Given the description of an element on the screen output the (x, y) to click on. 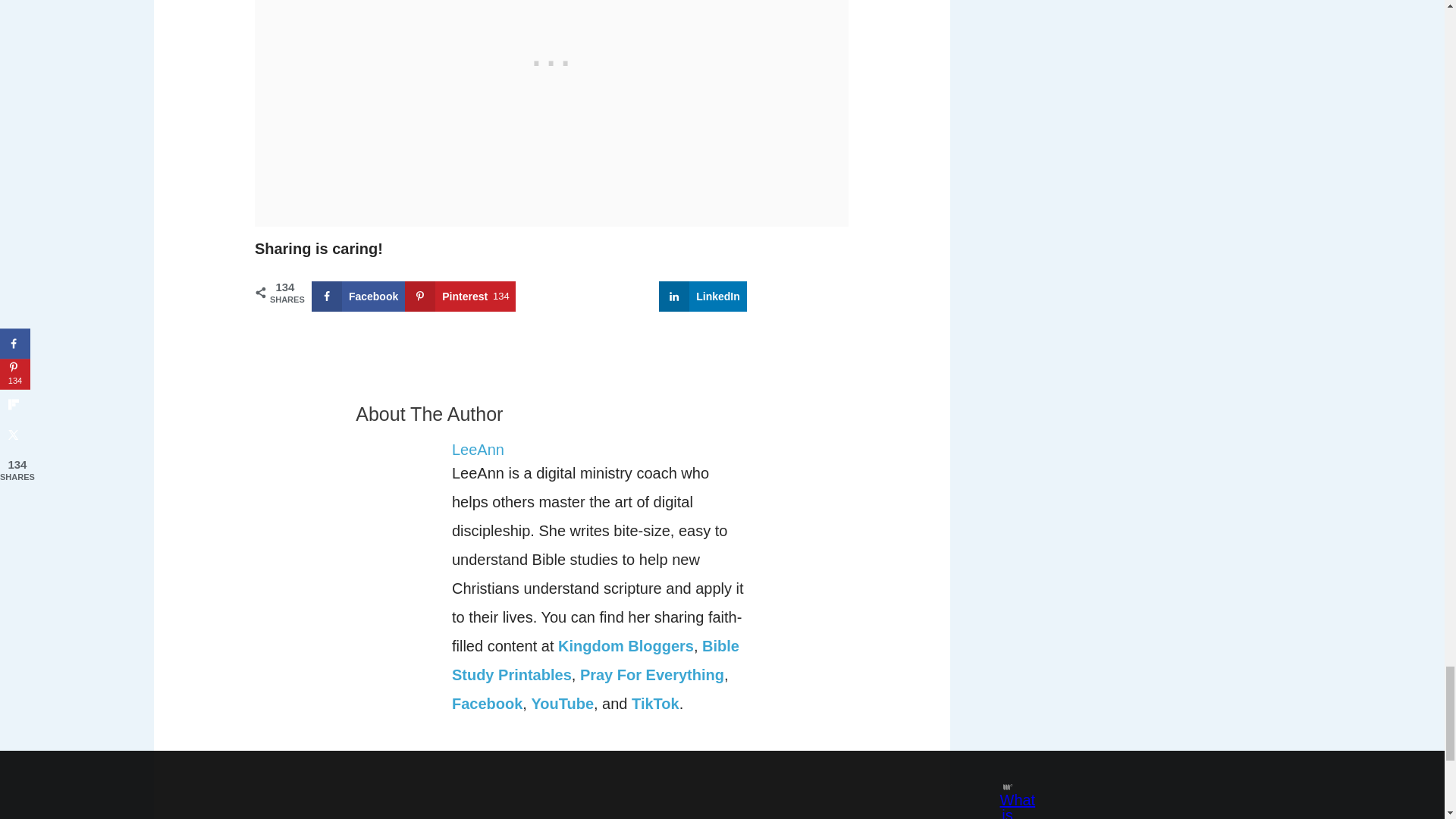
Share on Facebook (357, 296)
Save to Pinterest (459, 296)
Share on Threads (788, 296)
Share on LinkedIn (702, 296)
Share on Flipboard (561, 296)
Share on X (633, 296)
